Given the description of an element on the screen output the (x, y) to click on. 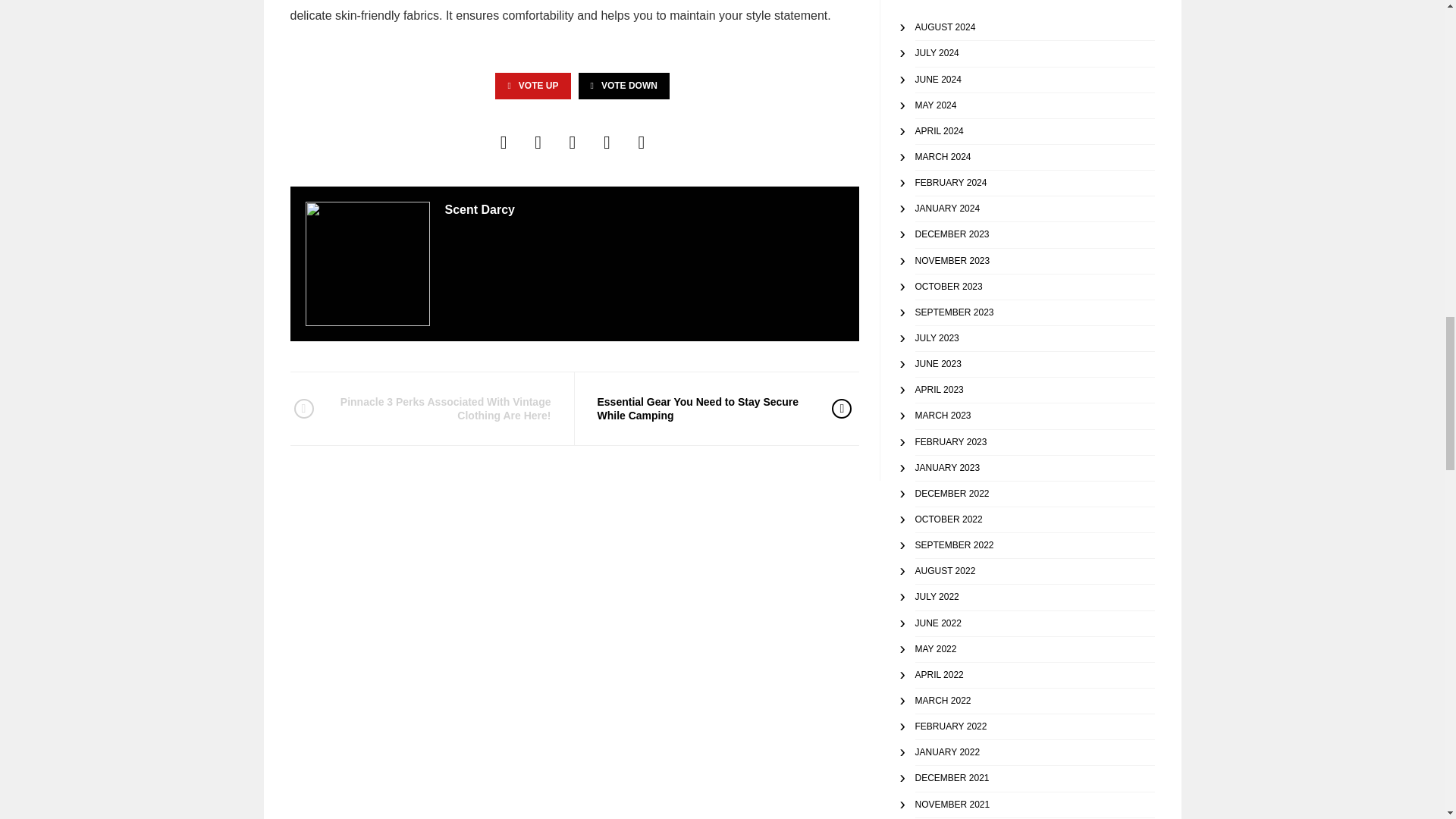
Scent Darcy (479, 209)
Essential Gear You Need to Stay Secure While Camping (702, 408)
VOTE UP (532, 85)
VOTE DOWN (623, 85)
Pinnacle 3 Perks Associated With Vintage Clothing Are Here! (442, 408)
